Given the description of an element on the screen output the (x, y) to click on. 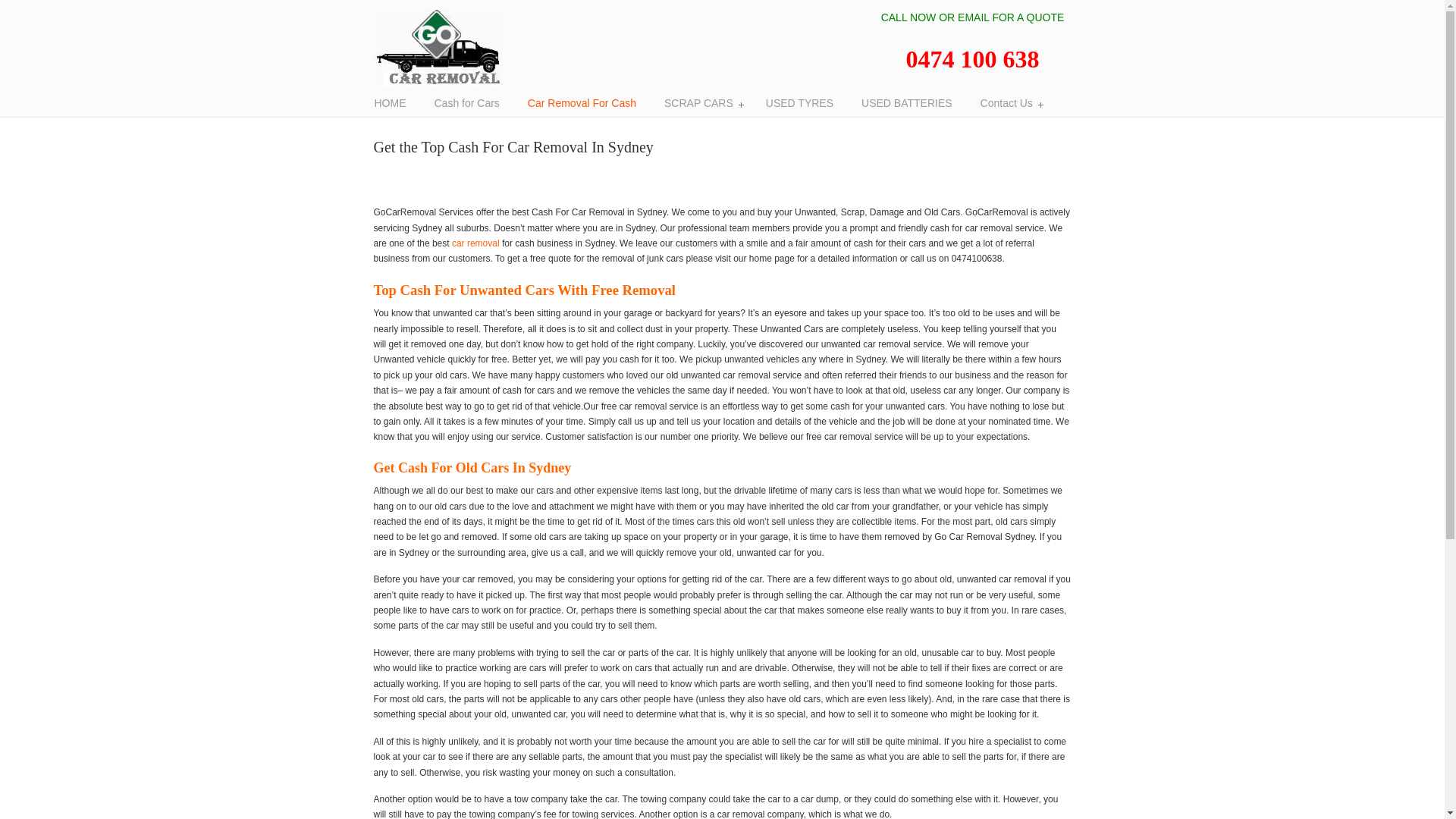
USED TYRES Element type: text (799, 103)
HOME Element type: text (390, 103)
car removal Element type: text (475, 243)
USED BATTERIES Element type: text (906, 103)
Contact Us Element type: text (1008, 103)
Cash for Cars Element type: text (466, 103)
Car Removal For Cash Element type: text (581, 103)
SCRAP CARS Element type: text (701, 103)
